Given the description of an element on the screen output the (x, y) to click on. 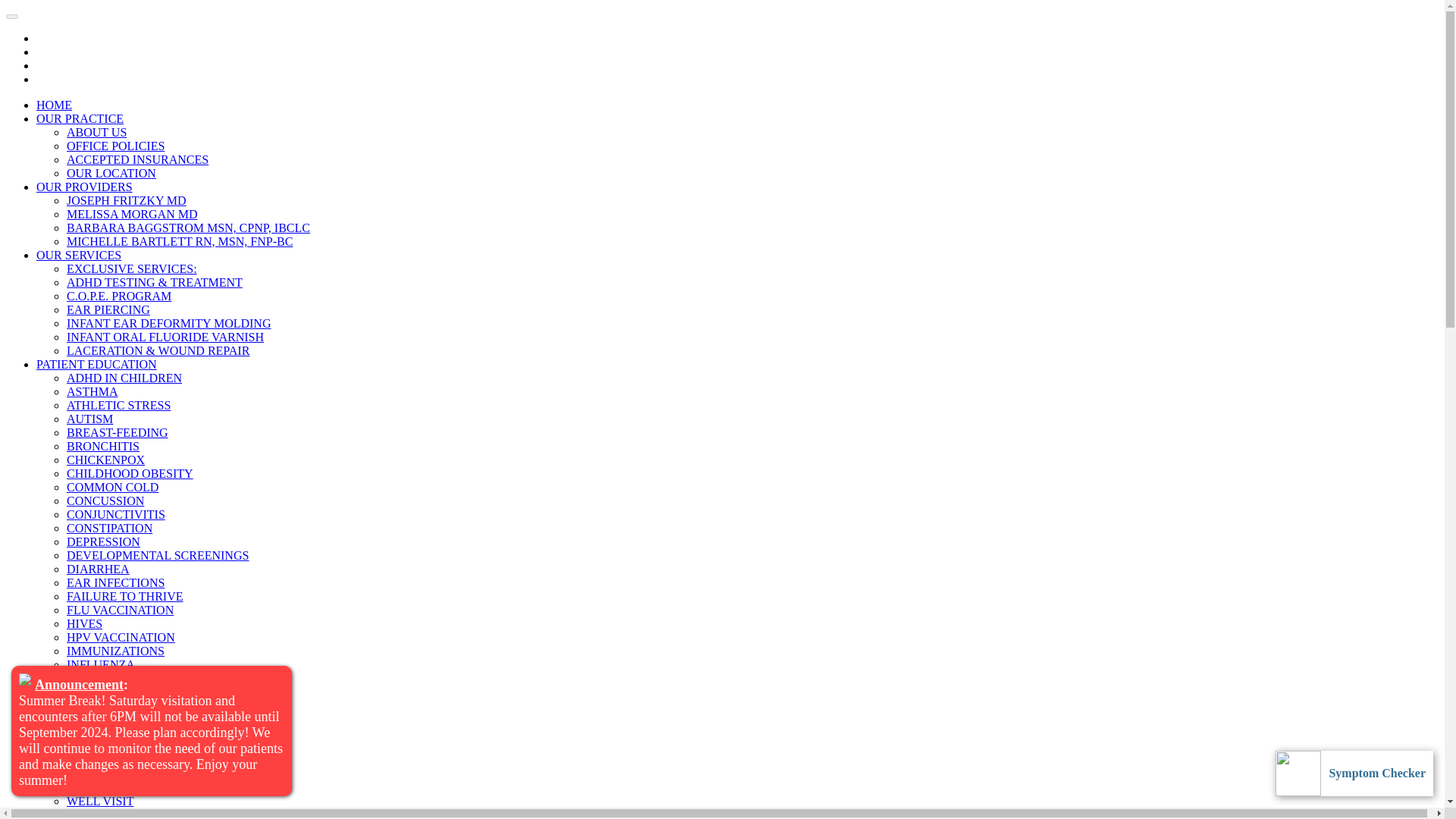
OUR SERVICES (78, 254)
CHILDHOOD OBESITY (129, 472)
EAR PIERCING (107, 309)
EXCLUSIVE SERVICES: (131, 268)
MICHELLE BARTLETT RN, MSN, FNP-BC (179, 241)
ASTHMA (91, 391)
COMMON COLD (112, 486)
CONCUSSION (105, 500)
OFFICE POLICIES (115, 145)
OUR PRACTICE (79, 118)
BARBARA BAGGSTROM MSN, CPNP, IBCLC (188, 227)
HOME (53, 104)
PATIENT EDUCATION (96, 364)
DEPRESSION (102, 541)
AUTISM (89, 418)
